Given the description of an element on the screen output the (x, y) to click on. 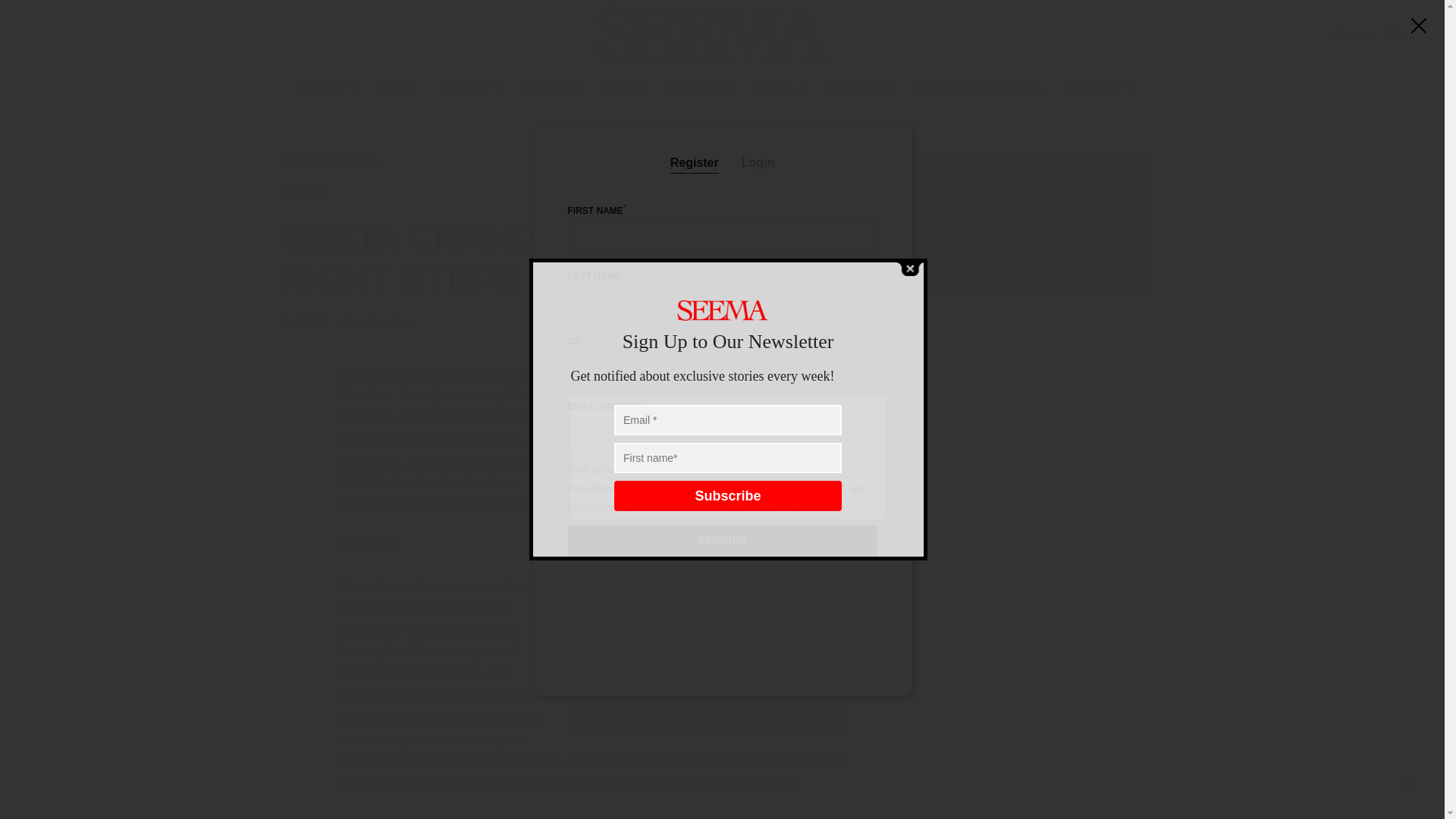
WELLNESS (861, 87)
CULTURE (469, 87)
FOOD (622, 87)
Seema (712, 33)
BEAUTY (328, 87)
BLOG (396, 87)
MAGAZINE (1097, 87)
Register (1355, 33)
PIONEERS (697, 87)
FASHION (549, 87)
TRAVEL (777, 87)
Subscribe (727, 495)
Scroll To Top (1408, 782)
Close (909, 268)
SUNDAYS WITH SEEMA (979, 87)
